Given the description of an element on the screen output the (x, y) to click on. 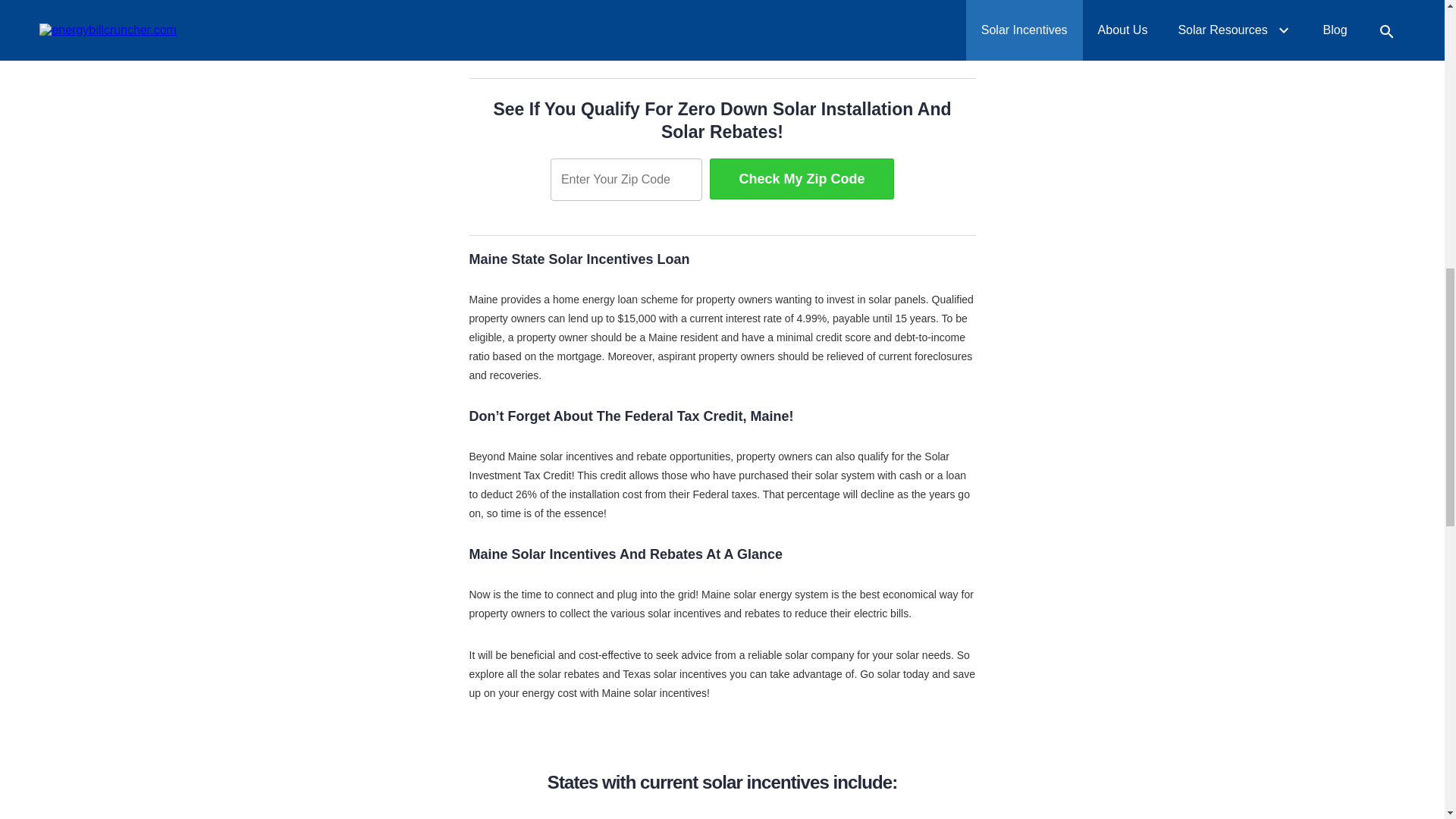
Check My Zip Code (801, 178)
